Given the description of an element on the screen output the (x, y) to click on. 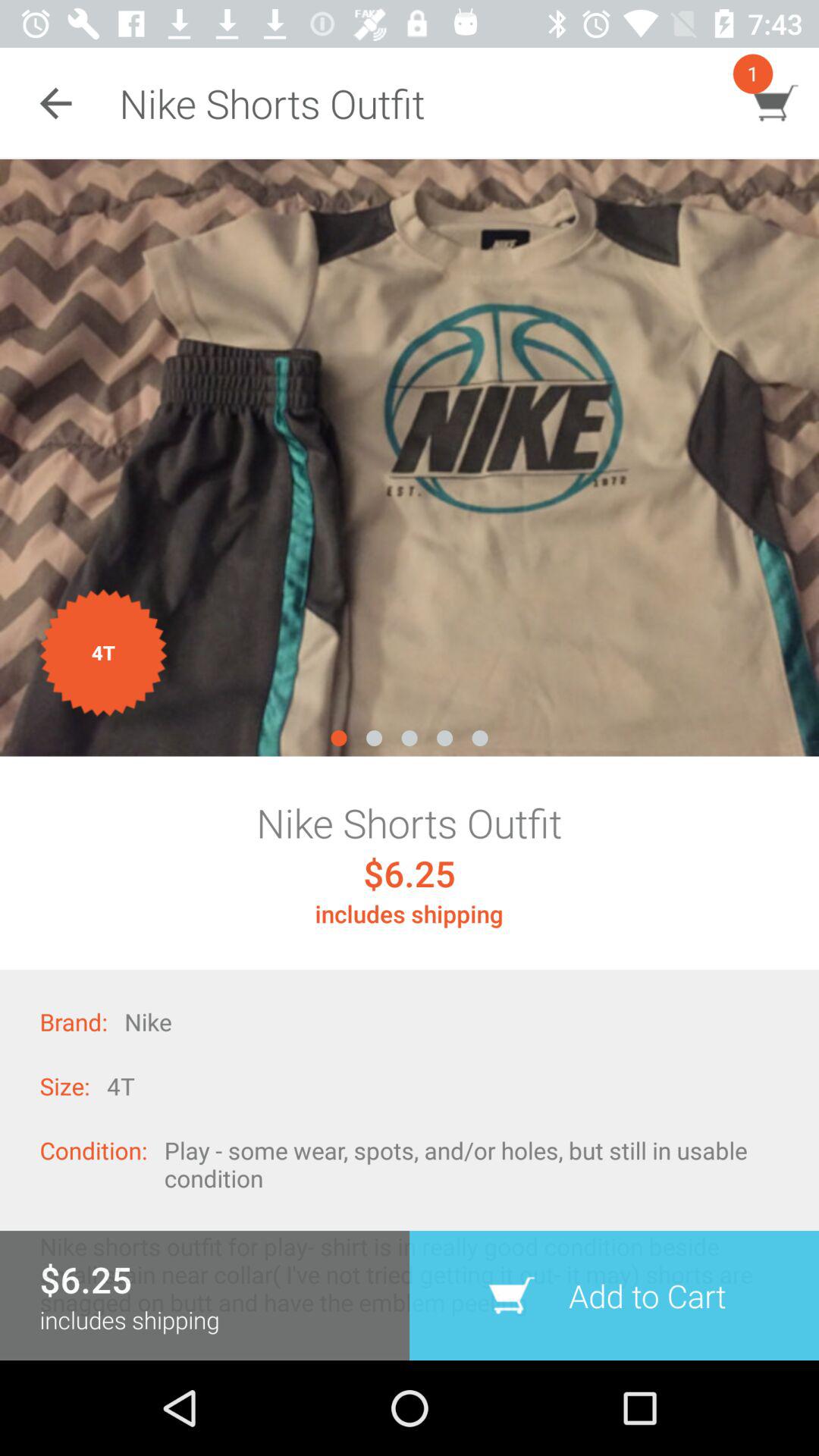
scroll until the add to cart icon (614, 1295)
